Given the description of an element on the screen output the (x, y) to click on. 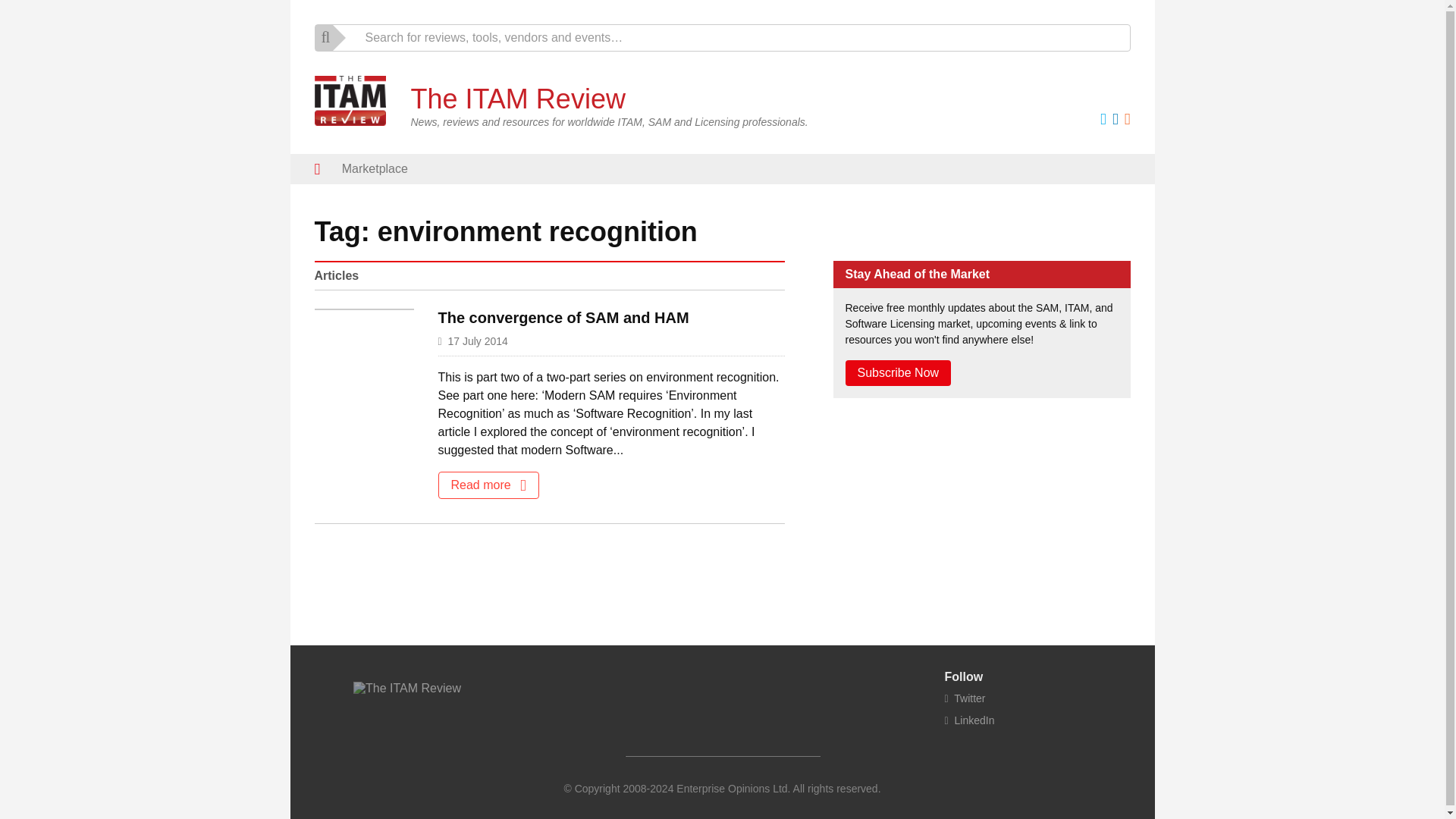
The convergence of SAM and HAM (563, 317)
Twitter (964, 698)
Marketplace (375, 168)
LinkedIn (969, 720)
Subscribe Now (897, 372)
The convergence of SAM and HAM (563, 317)
Read more (488, 484)
